Given the description of an element on the screen output the (x, y) to click on. 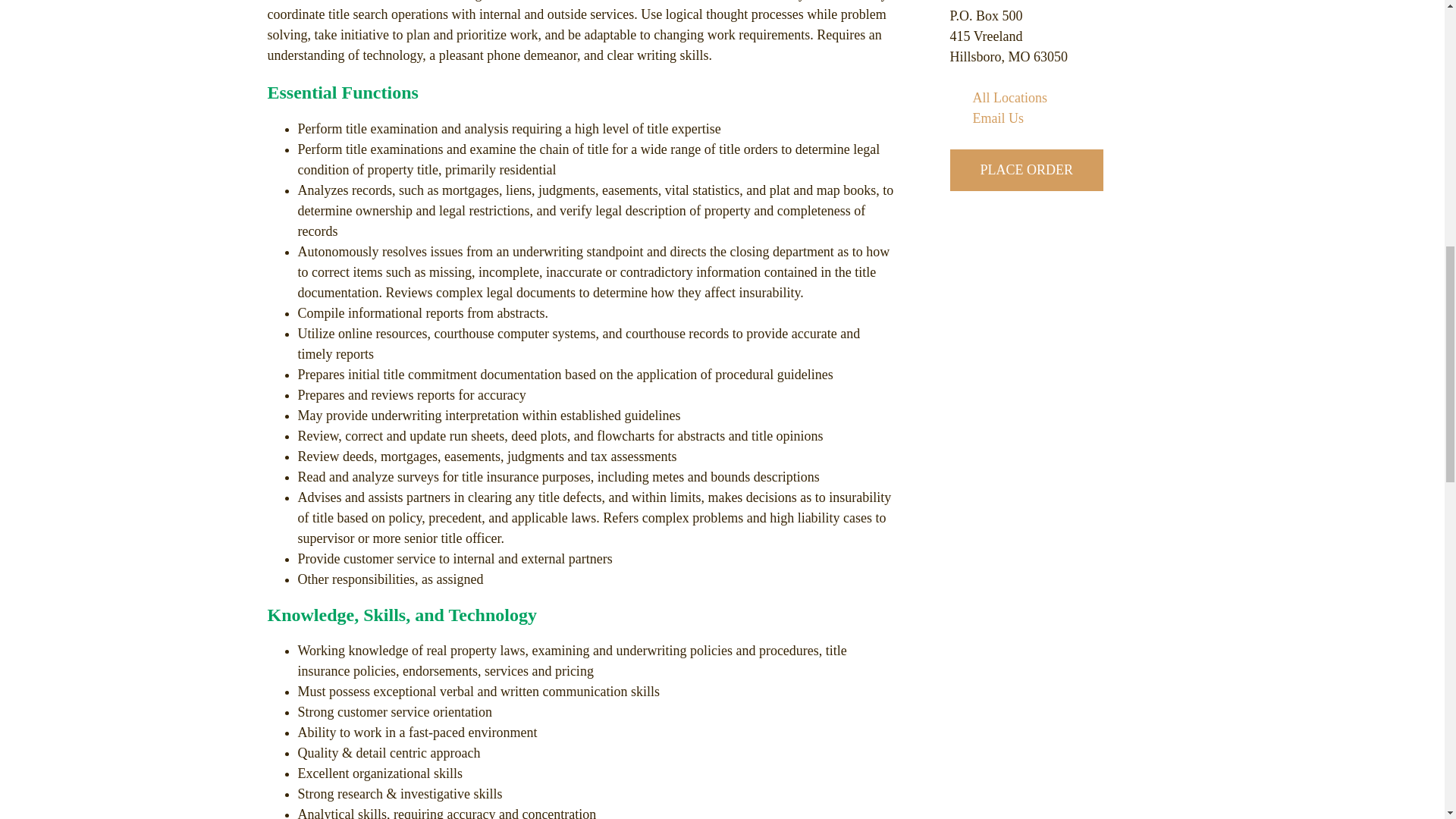
Email Us (986, 118)
PLACE ORDER (1026, 169)
All Locations (997, 97)
